Given the description of an element on the screen output the (x, y) to click on. 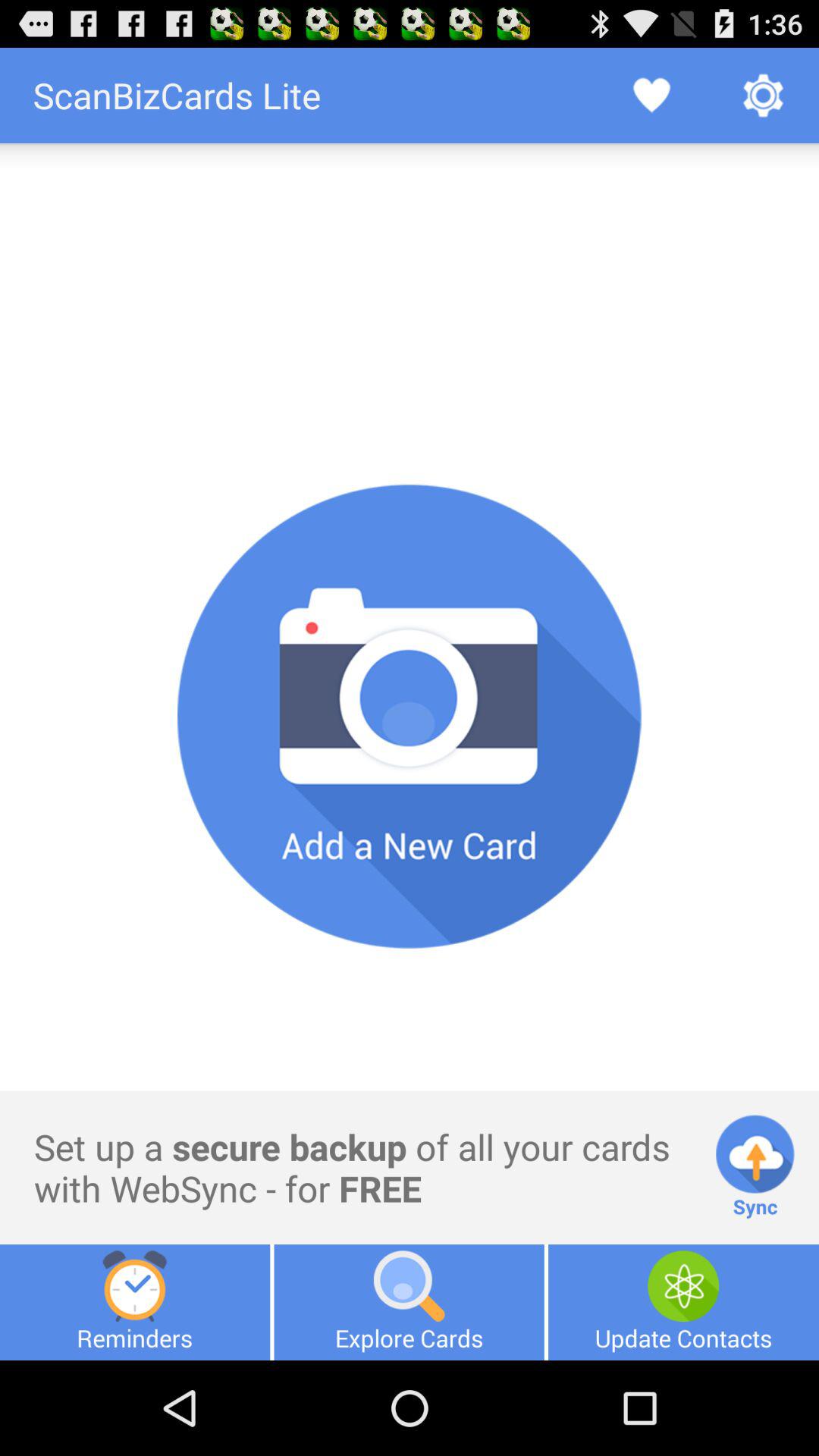
open explore cards icon (409, 1302)
